Given the description of an element on the screen output the (x, y) to click on. 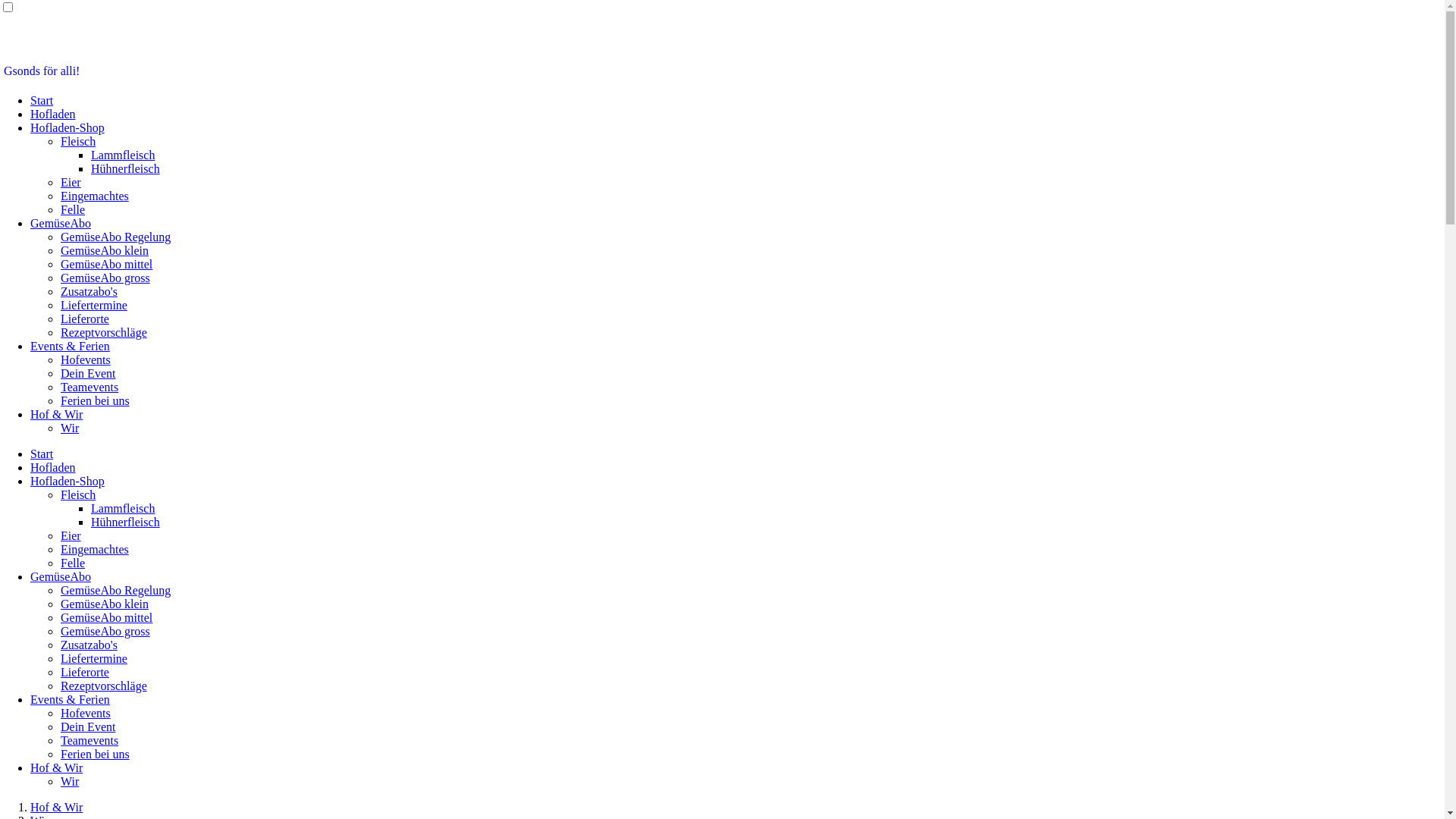
Events & Ferien Element type: text (69, 699)
Teamevents Element type: text (89, 386)
Events & Ferien Element type: text (69, 345)
Wir Element type: text (69, 781)
Hof & Wir Element type: text (56, 413)
Eingemachtes Element type: text (94, 195)
Ferien bei uns Element type: text (94, 400)
Start Element type: text (41, 453)
Start Element type: text (41, 100)
Lammfleisch Element type: text (122, 154)
Ferien bei uns Element type: text (94, 753)
Lieferorte Element type: text (84, 318)
Liefertermine Element type: text (93, 658)
Lammfleisch Element type: text (122, 508)
Hofevents Element type: text (85, 359)
Eingemachtes Element type: text (94, 548)
Eier Element type: text (70, 535)
Hof & Wir Element type: text (56, 767)
Hofevents Element type: text (85, 712)
Fleisch Element type: text (77, 140)
Teamevents Element type: text (89, 740)
Hofladen-Shop Element type: text (67, 480)
Felle Element type: text (72, 209)
Hofladen-Shop Element type: text (67, 127)
Fleisch Element type: text (77, 494)
Dein Event Element type: text (87, 726)
Wir Element type: text (69, 427)
Eier Element type: text (70, 181)
Liefertermine Element type: text (93, 304)
Zusatzabo's Element type: text (88, 644)
Hofladen Element type: text (52, 467)
Zusatzabo's Element type: text (88, 291)
Felle Element type: text (72, 562)
Hof & Wir Element type: text (56, 806)
Lieferorte Element type: text (84, 671)
Hofladen Element type: text (52, 113)
Dein Event Element type: text (87, 373)
